Given the description of an element on the screen output the (x, y) to click on. 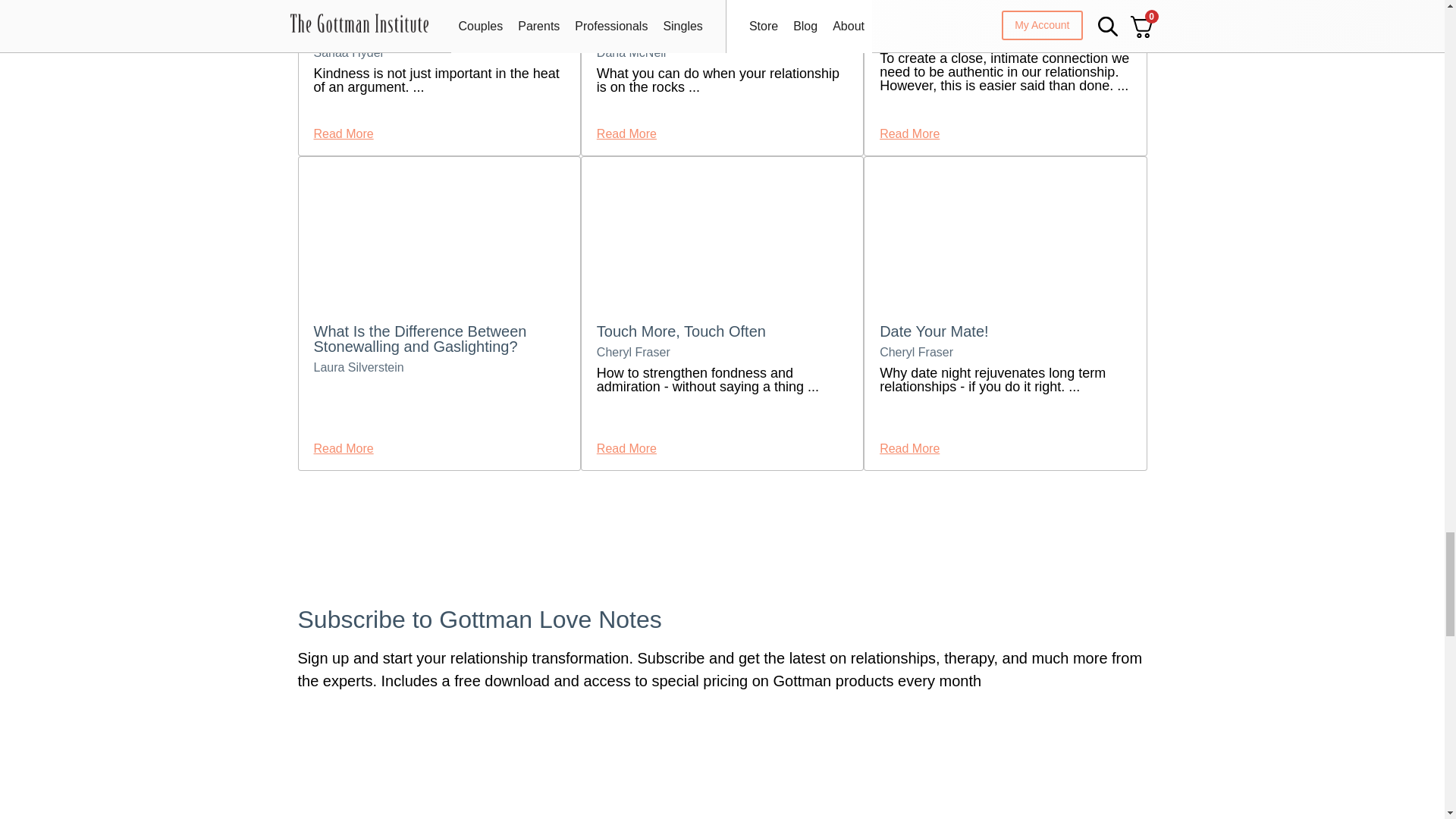
Form 0 (572, 774)
